Given the description of an element on the screen output the (x, y) to click on. 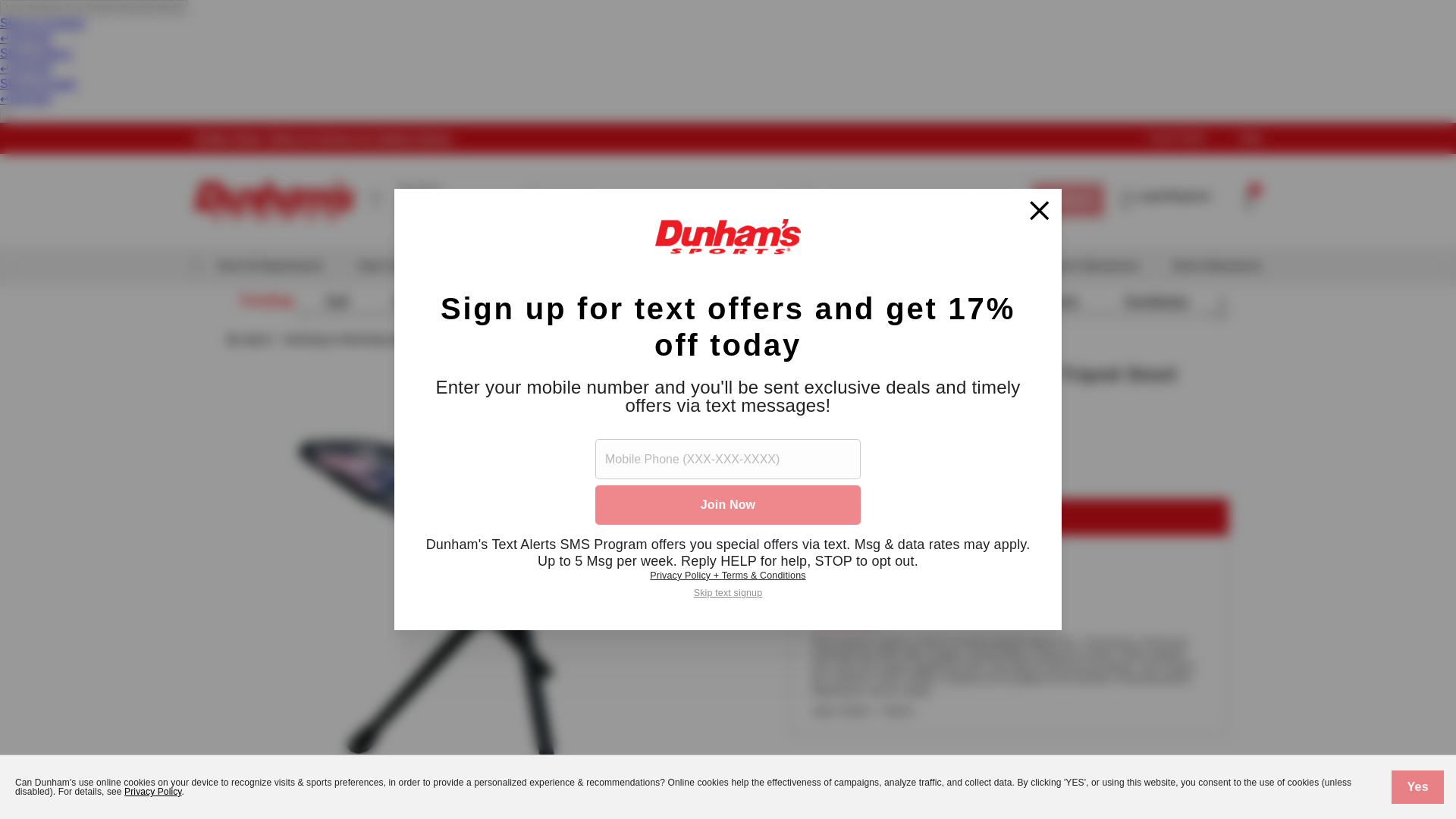
Track Order (1176, 137)
Dunham's Sports Home (274, 199)
Privacy Policy (921, 226)
Submit (1067, 200)
Order Now, Ship to Home on Select Items (322, 137)
Go to Terms (979, 226)
Skip text signup (728, 593)
Join Now (727, 504)
C3832541000000 (909, 575)
Go to Privacy (442, 199)
View All Departments (921, 226)
Help (258, 265)
